Given the description of an element on the screen output the (x, y) to click on. 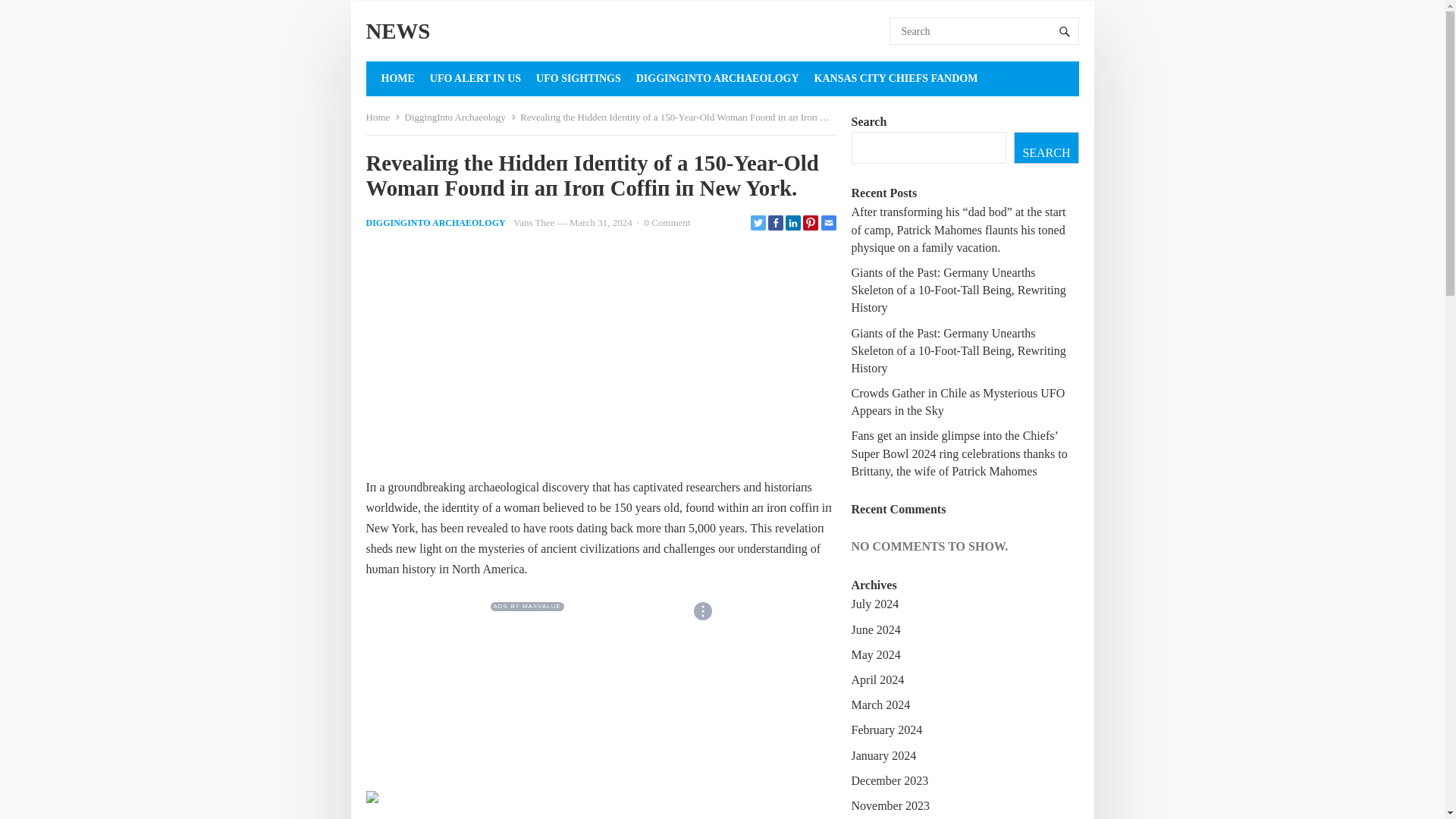
Vans Thee (533, 222)
SEARCH (1045, 147)
Home (382, 116)
0 Comment (666, 222)
UFO SIGHTINGS (578, 78)
KANSAS CITY CHIEFS FANDOM (895, 78)
HOME (396, 78)
NEWS (397, 30)
UFO ALERT IN US (475, 78)
Posts by Vans Thee (533, 222)
